Given the description of an element on the screen output the (x, y) to click on. 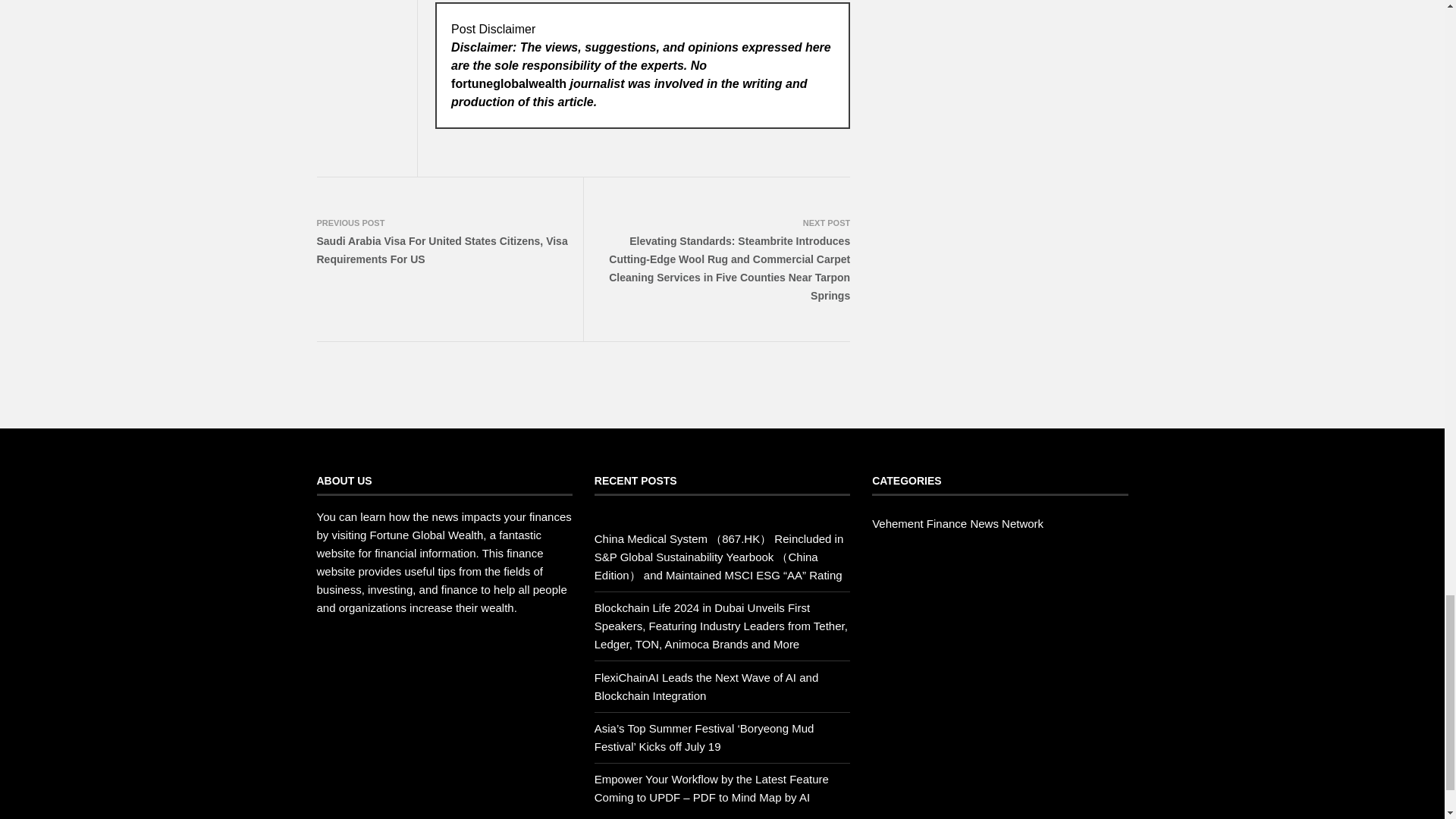
Vehement Finance News Network (957, 522)
